Given the description of an element on the screen output the (x, y) to click on. 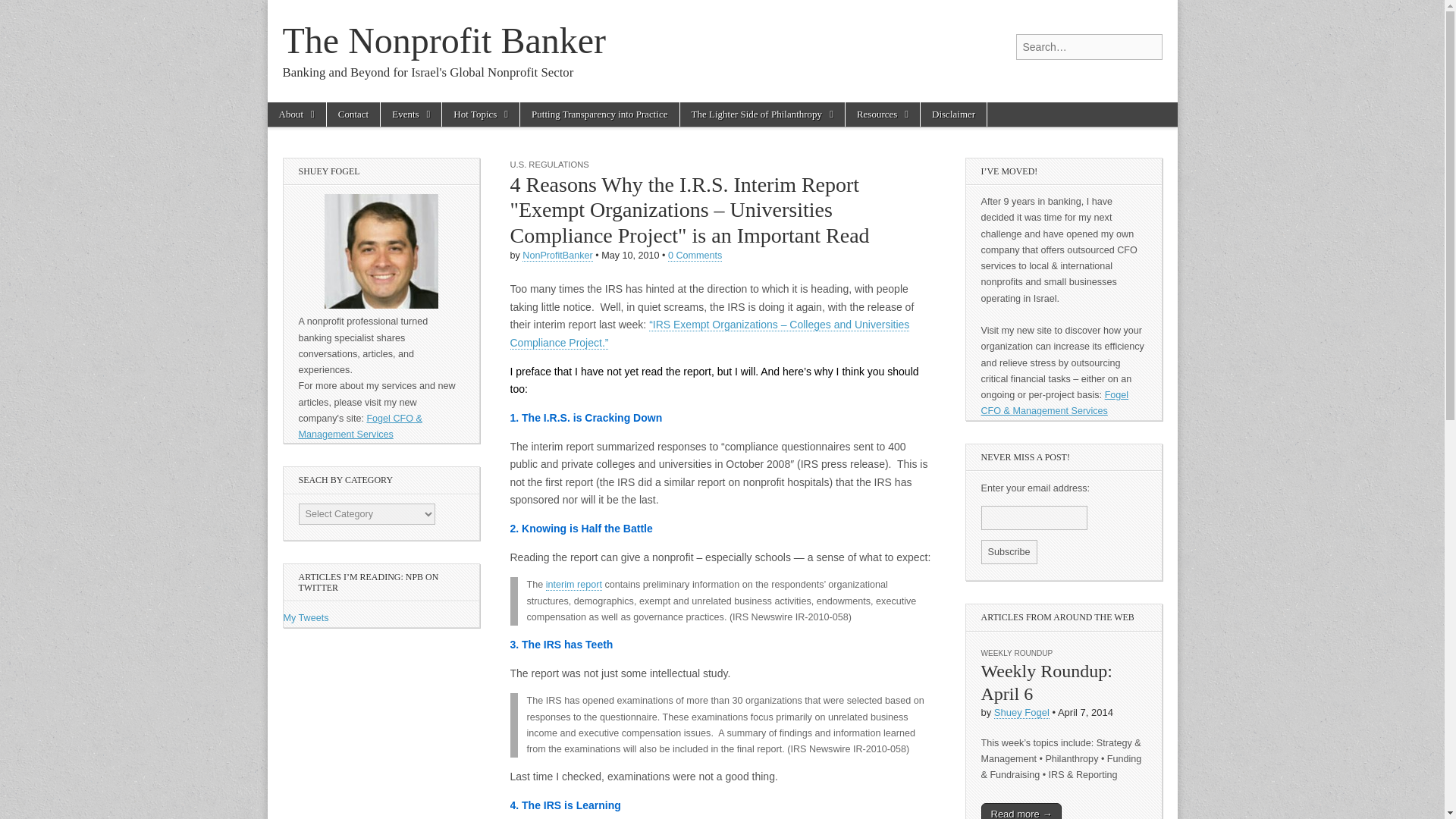
Skip to content (296, 110)
Disclaimer (953, 114)
The Nonprofit Banker (443, 40)
Putting Transparency into Practice (598, 114)
The Lighter Side of Philanthropy (761, 114)
Skip to content (296, 110)
Contact (353, 114)
View all posts in U.S. Regulations (548, 163)
Resources (882, 114)
View all posts in Weekly Roundup (1016, 653)
Posts by NonProfitBanker (557, 255)
U.S. REGULATIONS (548, 163)
The Nonprofit Banker (443, 40)
My Tweets (306, 617)
Hot Topics (480, 114)
